Given the description of an element on the screen output the (x, y) to click on. 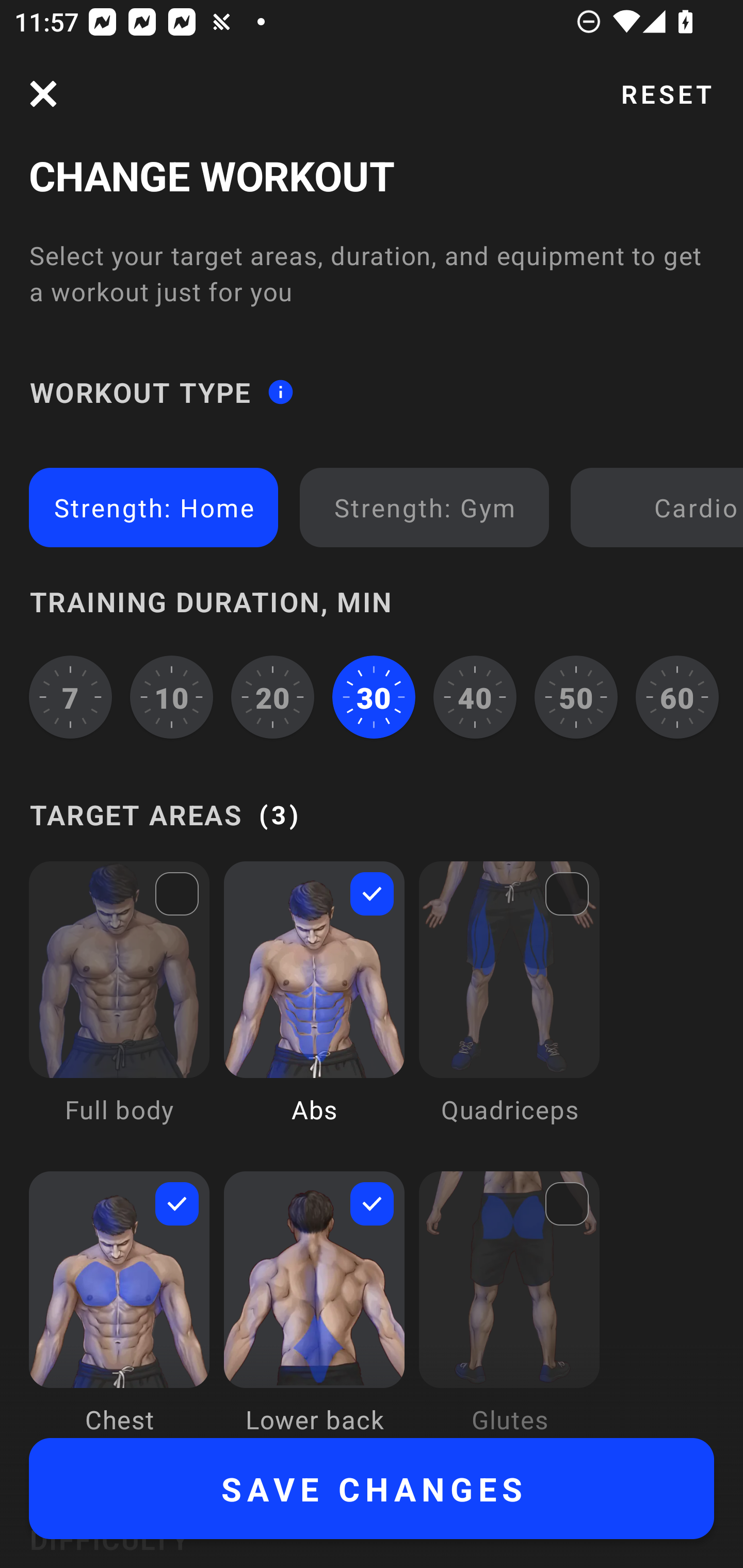
Navigation icon (43, 93)
RESET (666, 93)
Workout type information button (280, 391)
Strength: Gym (423, 507)
Cardio (660, 507)
7 (70, 696)
10 (171, 696)
20 (272, 696)
30 (373, 696)
40 (474, 696)
50 (575, 696)
60 (676, 696)
Full body (118, 1007)
Quadriceps (509, 1007)
Glutes (509, 1304)
SAVE CHANGES (371, 1488)
